Given the description of an element on the screen output the (x, y) to click on. 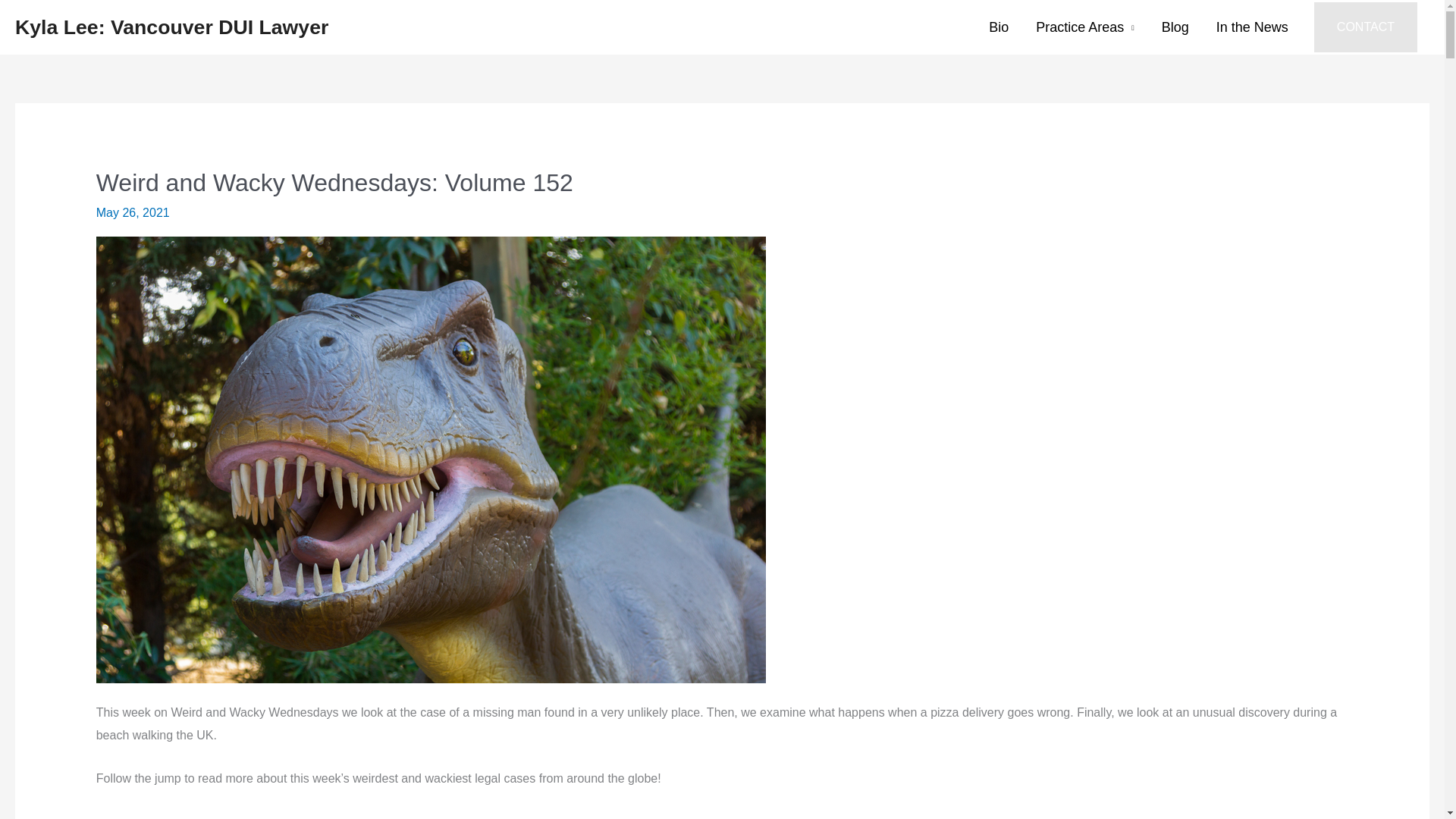
Weird and Wacky Wednesdays: Volume 152 (334, 182)
CONTACT (1365, 27)
Practice Areas (1085, 27)
In the News (1251, 27)
Kyla Lee: Vancouver DUI Lawyer (171, 26)
Blog (1175, 27)
